Given the description of an element on the screen output the (x, y) to click on. 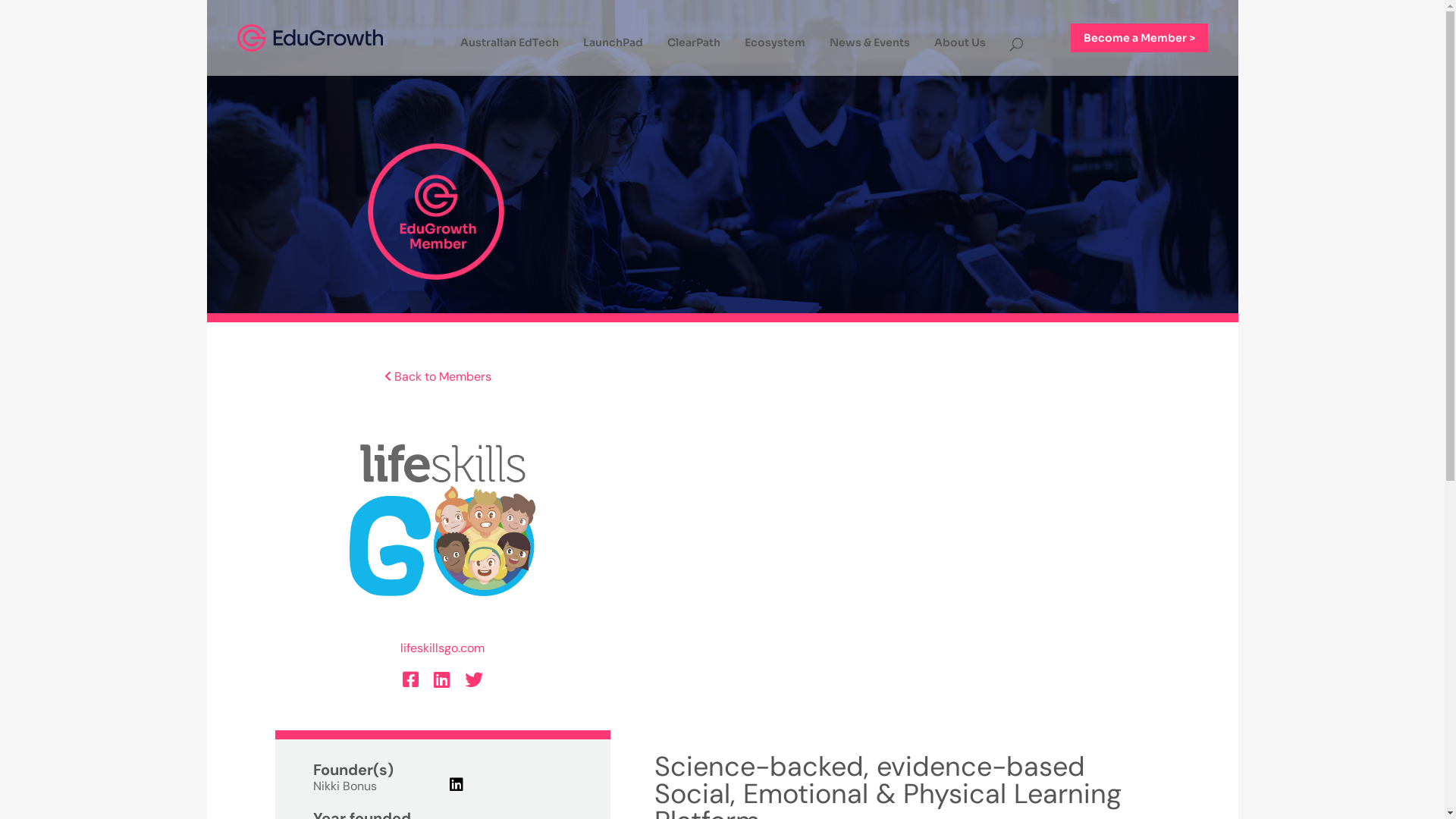
About Us Element type: text (959, 47)
Ecosystem Element type: text (774, 47)
News & Events Element type: text (869, 47)
Back to Members Element type: text (438, 376)
ClearPath Element type: text (693, 47)
Become a Member > Element type: text (1139, 37)
Australian EdTech Element type: text (509, 47)
LaunchPad Element type: text (613, 47)
lifeskillsgo.com Element type: text (442, 647)
YouTube video player Element type: hover (911, 546)
